Given the description of an element on the screen output the (x, y) to click on. 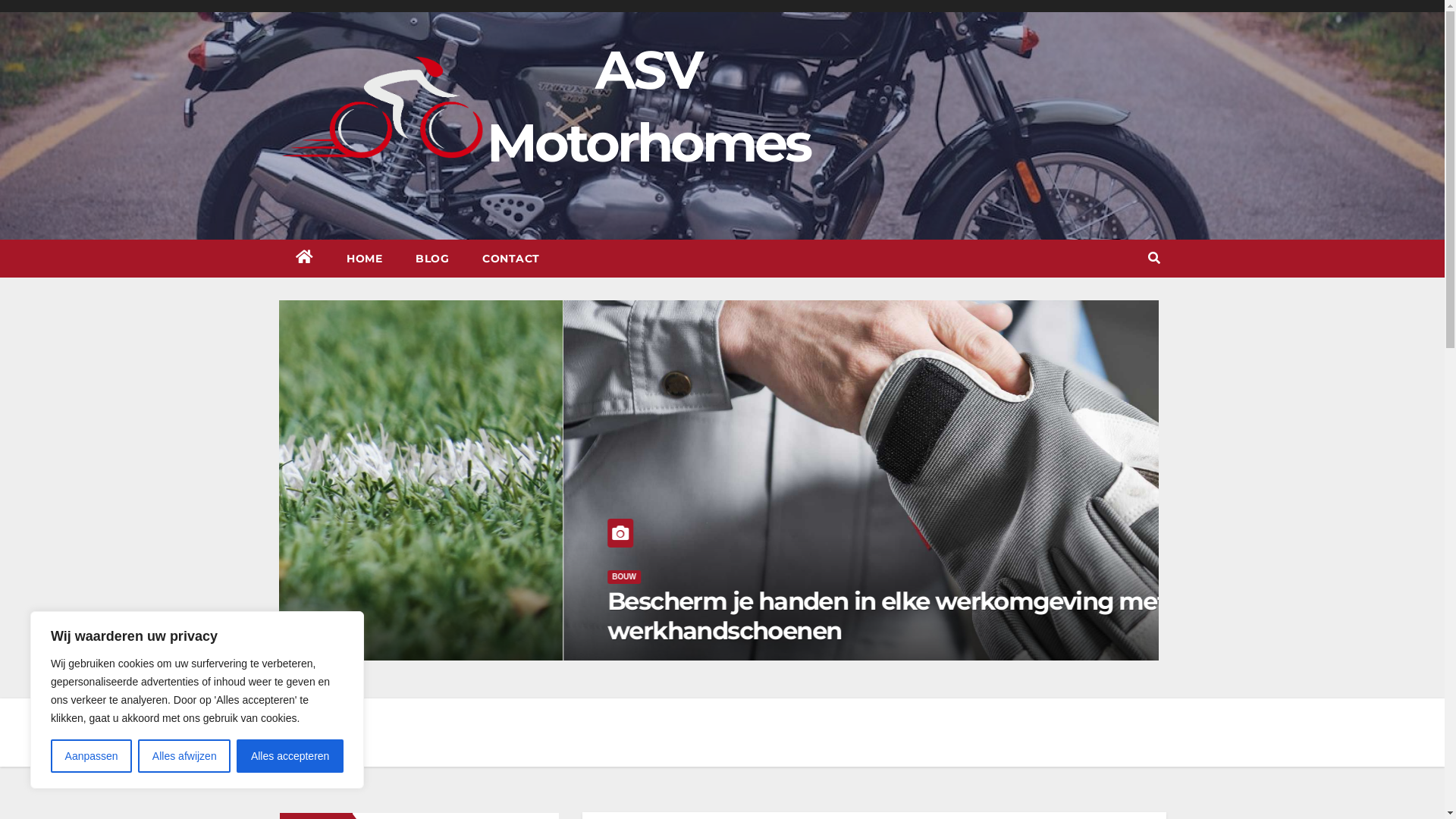
CONTACT Element type: text (510, 258)
Alles accepteren Element type: text (289, 755)
Alles afwijzen Element type: text (184, 755)
BLOG Element type: text (431, 258)
Aanpassen Element type: text (90, 755)
WONING Element type: text (343, 606)
HOME Element type: text (363, 258)
ASV Motorhomes Element type: text (647, 106)
De groene revolutie voor jouw tuin Element type: text (524, 630)
